Given the description of an element on the screen output the (x, y) to click on. 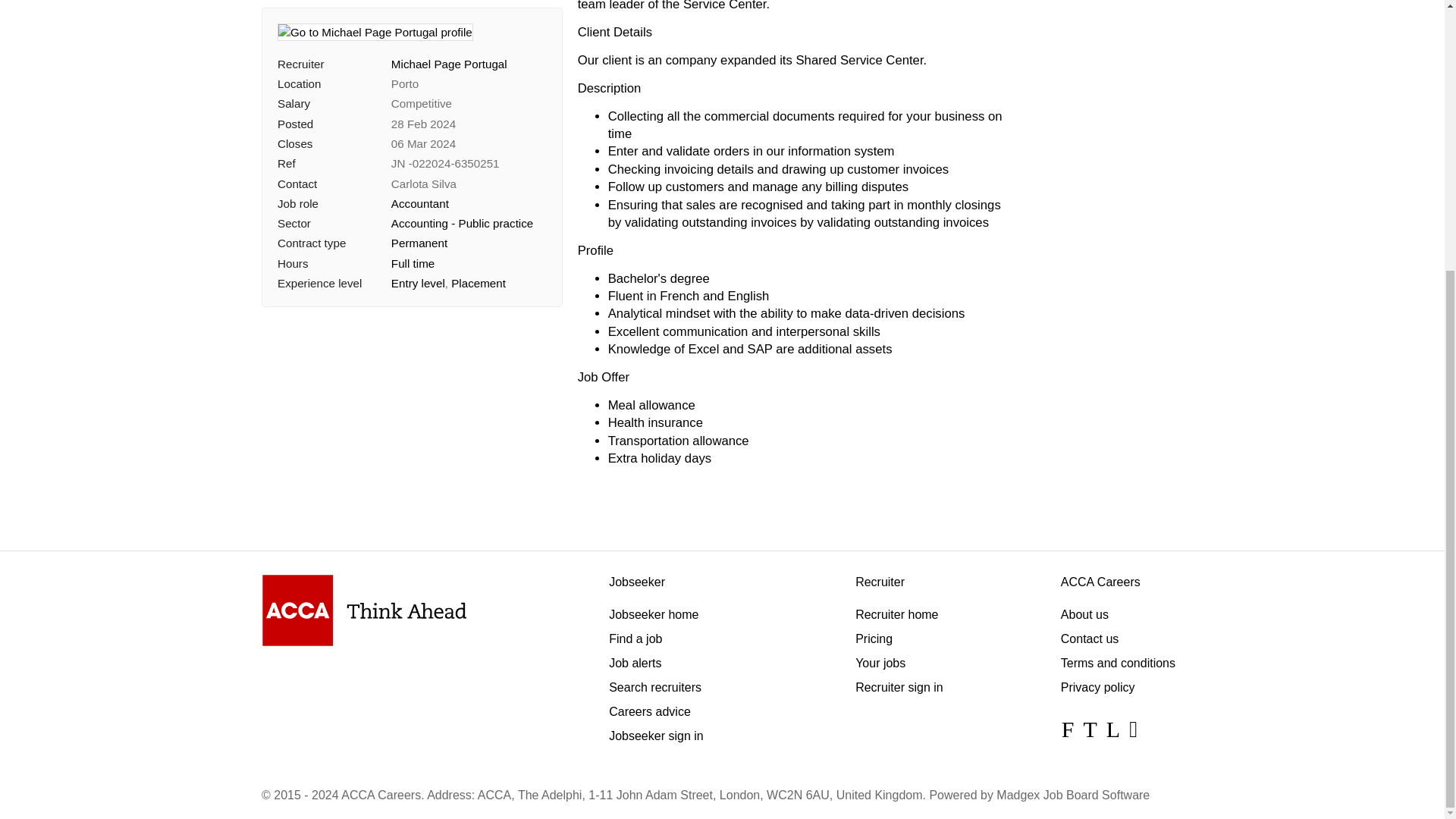
Full time (412, 215)
Permanent (418, 195)
Placement (478, 236)
Accountant (419, 155)
Accounting - Public practice (461, 175)
Michael Page Portugal (448, 16)
Entry level (418, 236)
Jobseeker home (653, 614)
